Given the description of an element on the screen output the (x, y) to click on. 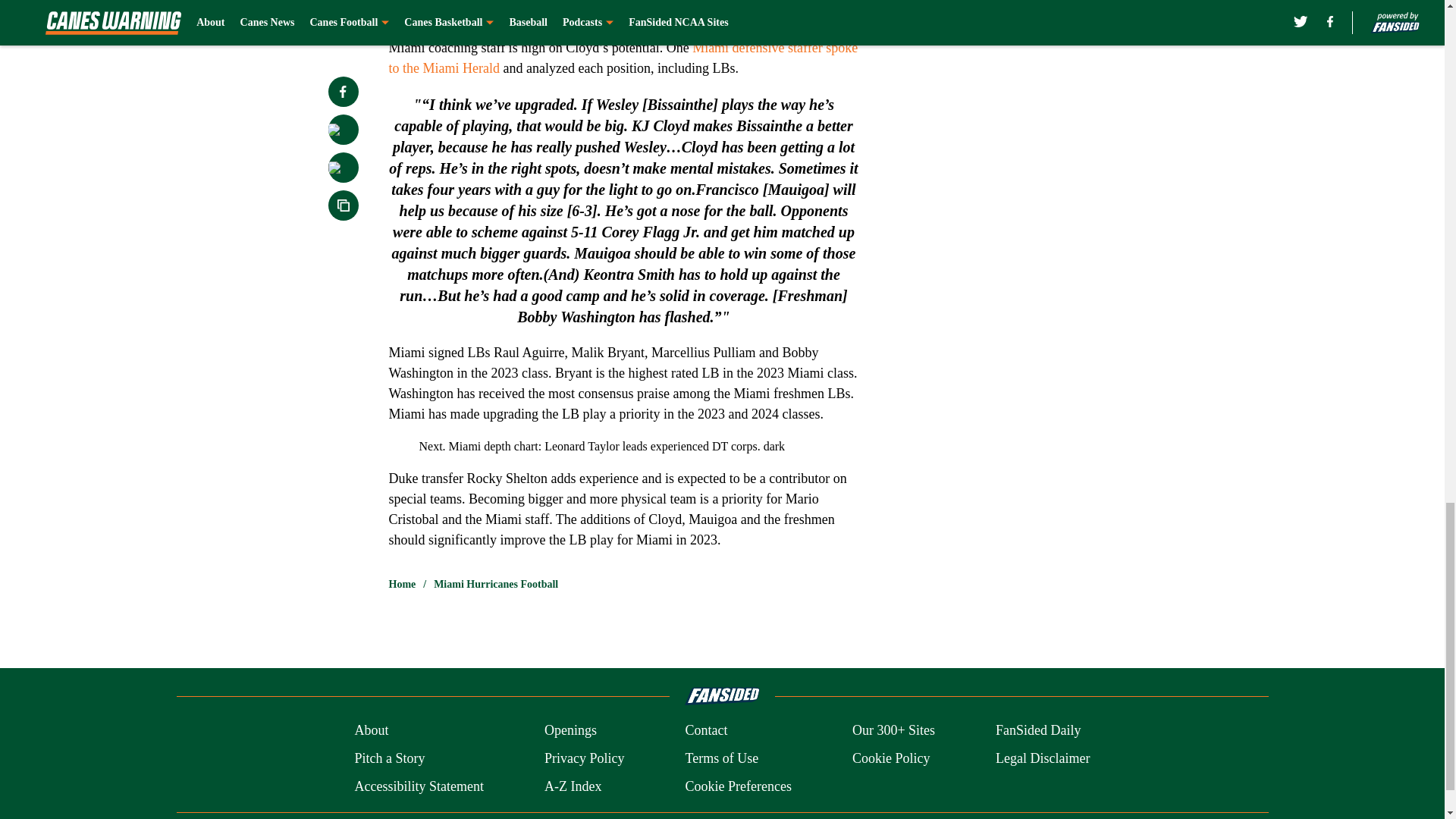
A-Z Index (572, 786)
Miami Hurricanes Football (495, 584)
Pitch a Story (389, 758)
Miami defensive staffer spoke to the Miami Herald (622, 58)
Home (401, 584)
Accessibility Statement (418, 786)
About (370, 730)
Openings (570, 730)
Terms of Use (721, 758)
Legal Disclaimer (1042, 758)
